Given the description of an element on the screen output the (x, y) to click on. 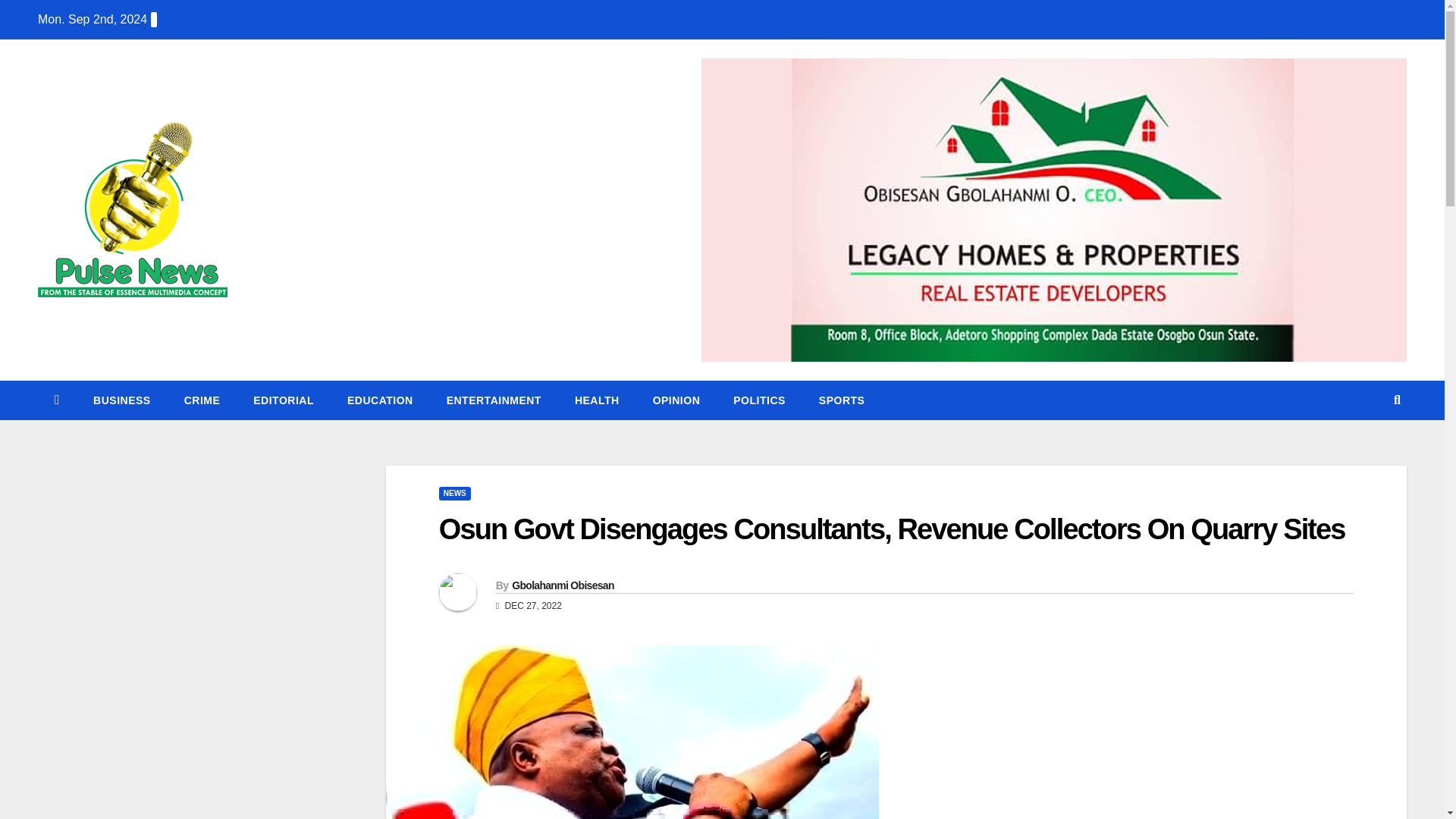
Politics (759, 400)
SPORTS (842, 400)
Crime (202, 400)
Health (596, 400)
POLITICS (759, 400)
Opinion (676, 400)
Entertainment (493, 400)
ENTERTAINMENT (493, 400)
BUSINESS (122, 400)
CRIME (202, 400)
